Given the description of an element on the screen output the (x, y) to click on. 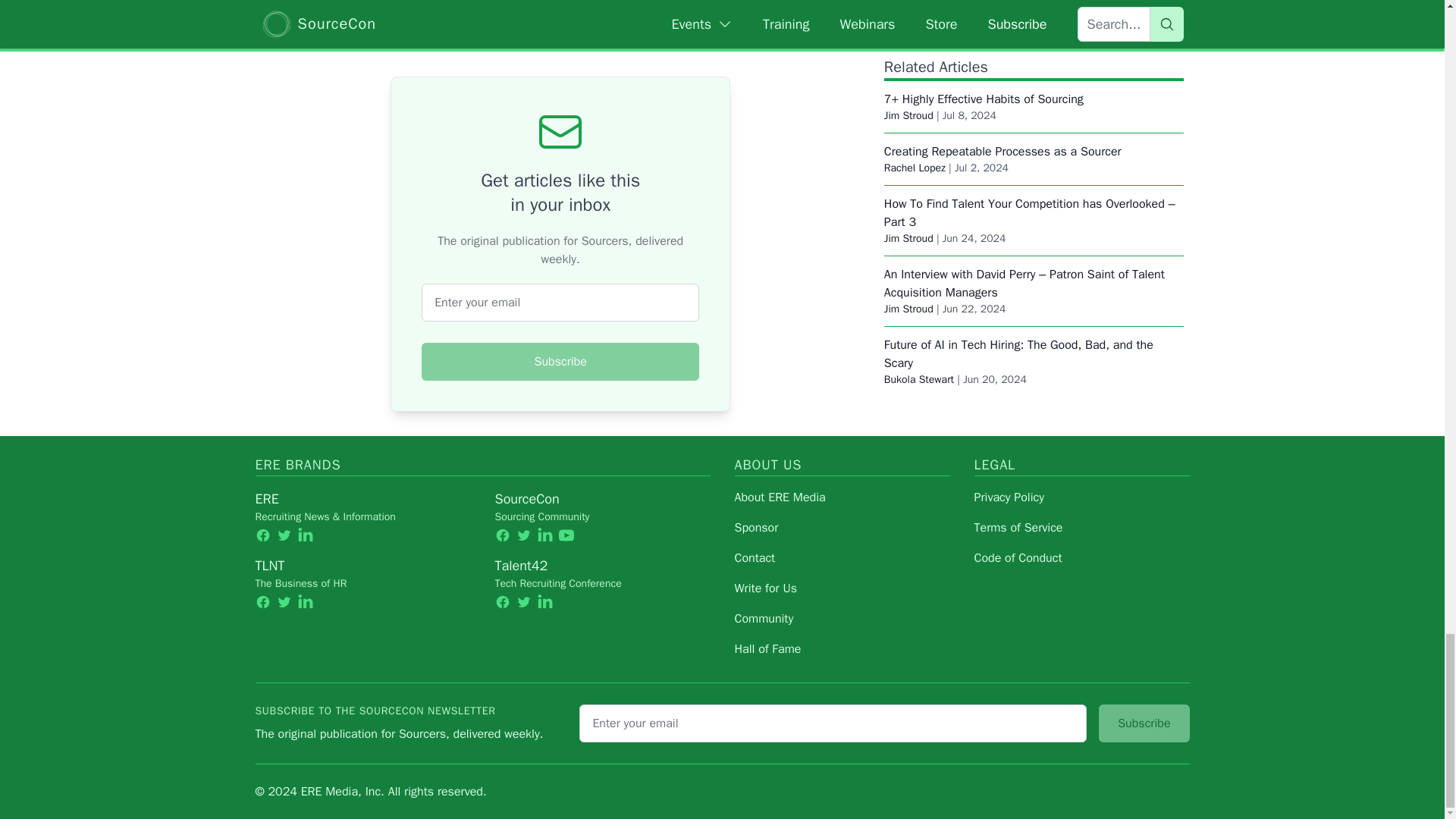
Subscribe (560, 361)
facebook (261, 534)
ERE (266, 498)
